Given the description of an element on the screen output the (x, y) to click on. 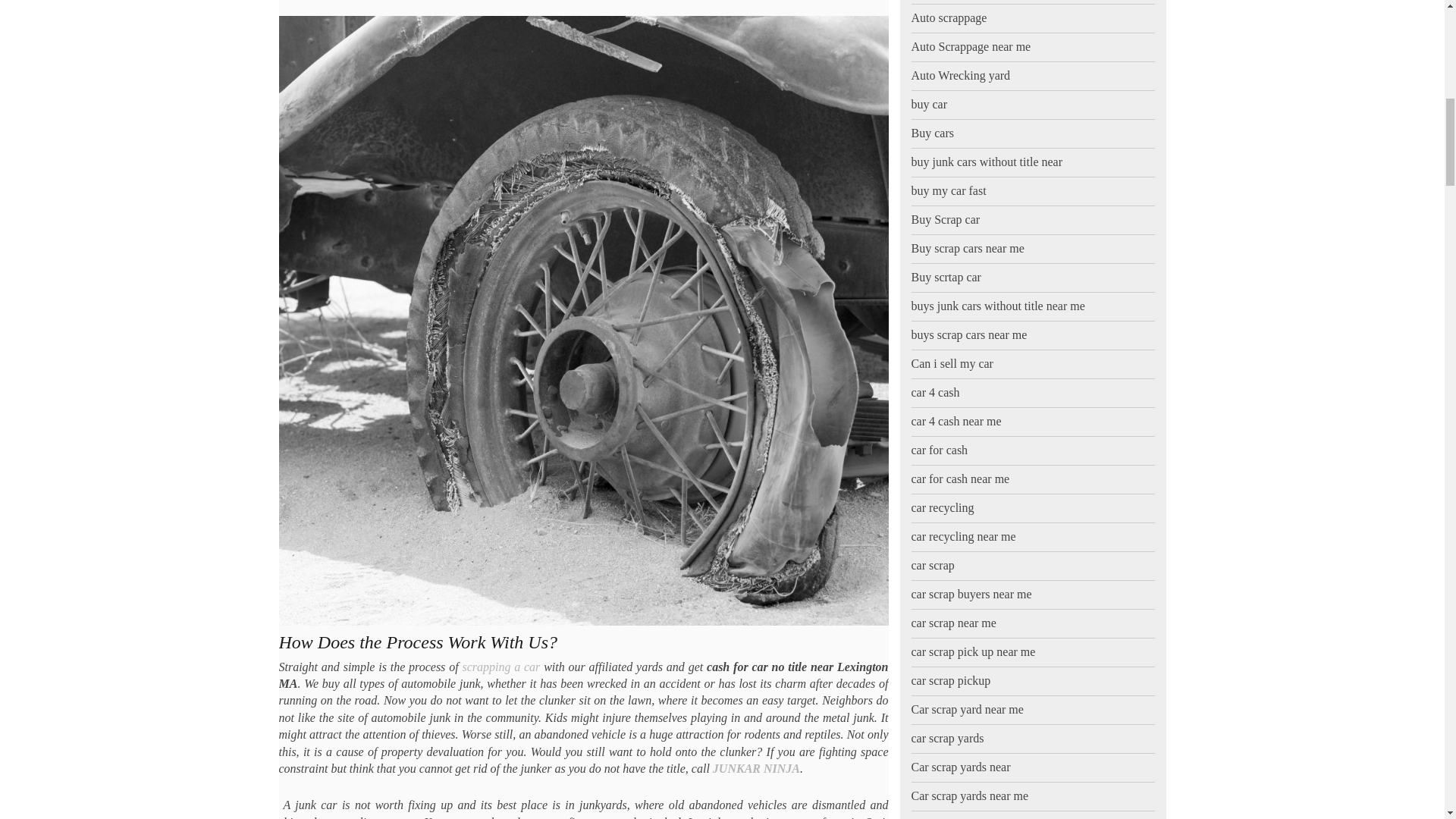
Auto scrappage (949, 2)
scrapping a car (500, 666)
JUNKAR NINJA (756, 768)
